Given the description of an element on the screen output the (x, y) to click on. 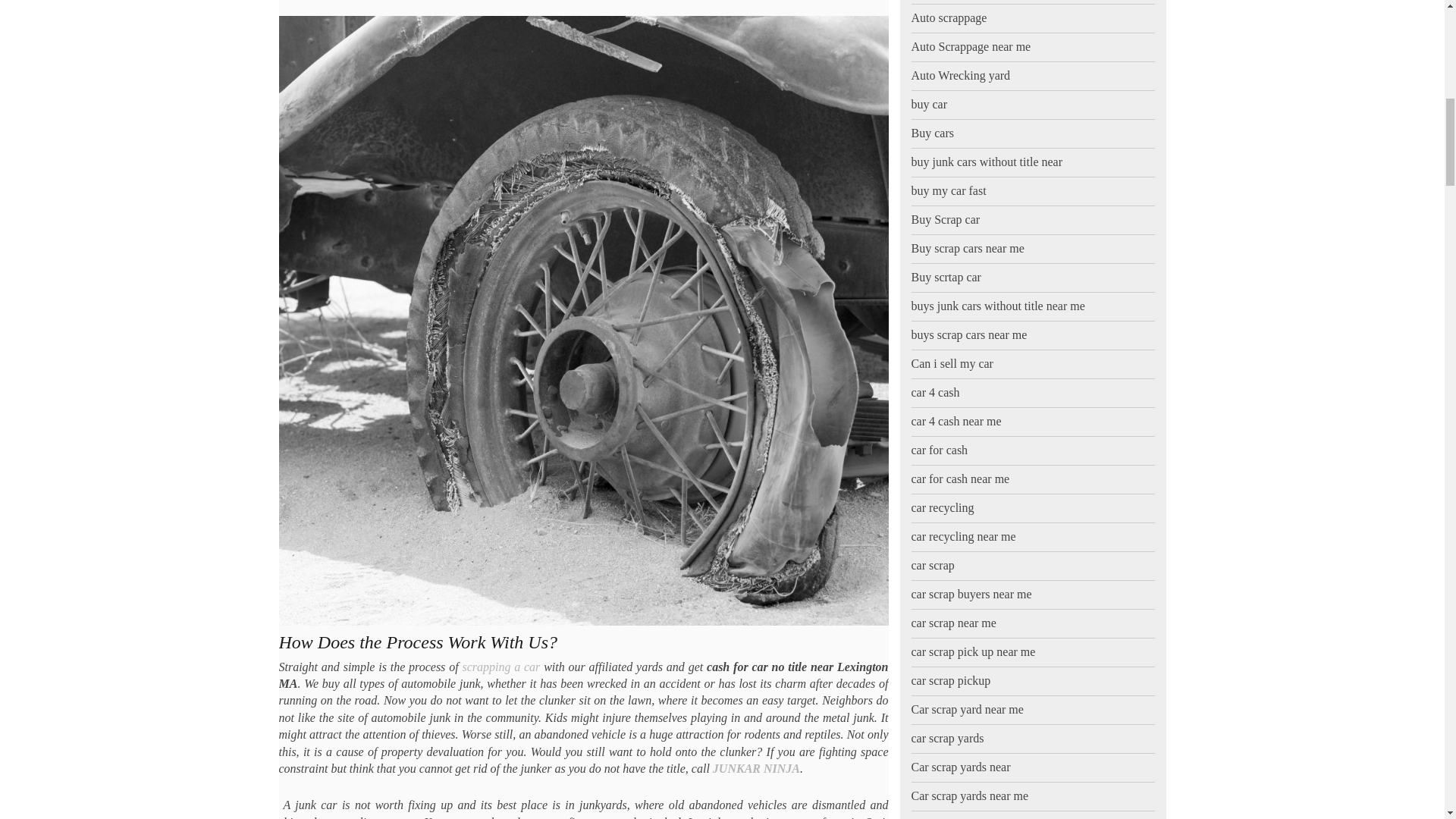
Auto scrappage (949, 2)
scrapping a car (500, 666)
JUNKAR NINJA (756, 768)
